Given the description of an element on the screen output the (x, y) to click on. 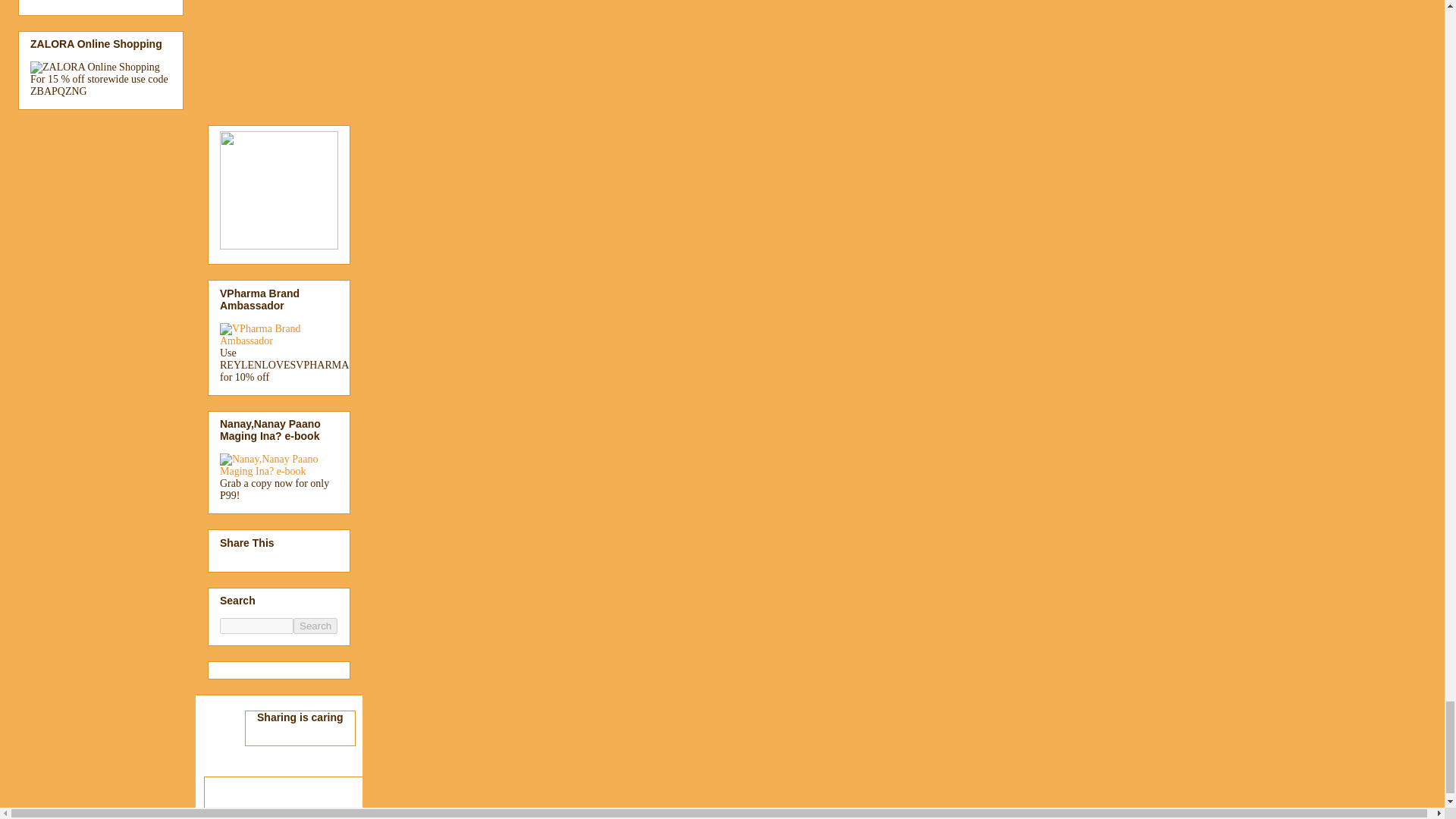
search (315, 625)
Search (315, 625)
Search (315, 625)
search (256, 625)
